Given the description of an element on the screen output the (x, y) to click on. 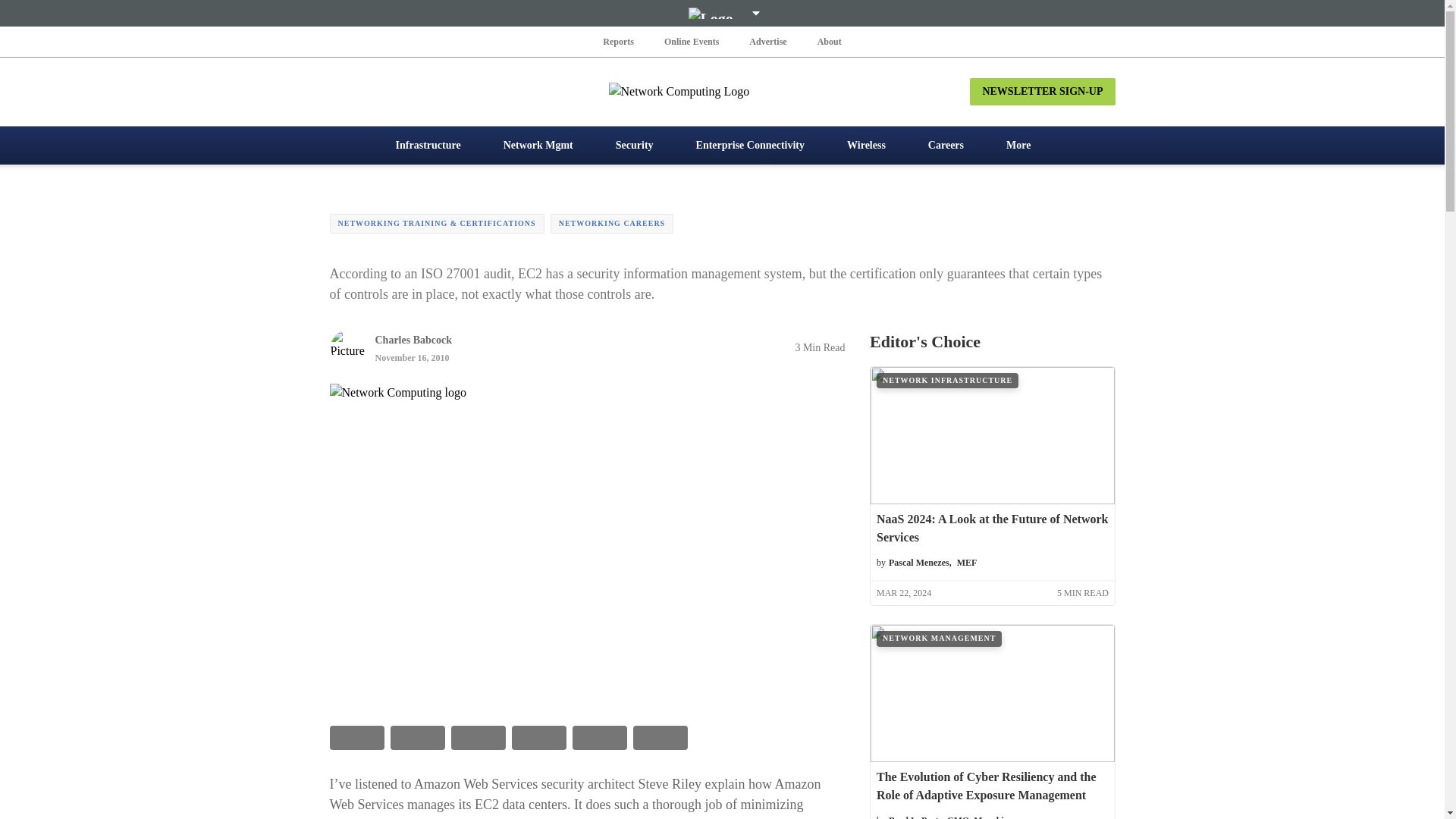
Reports (618, 41)
Online Events (691, 41)
Picture of Charles Babcock (347, 347)
Advertise (767, 41)
Network Computing Logo (721, 91)
About (828, 41)
NEWSLETTER SIGN-UP (1042, 90)
